Given the description of an element on the screen output the (x, y) to click on. 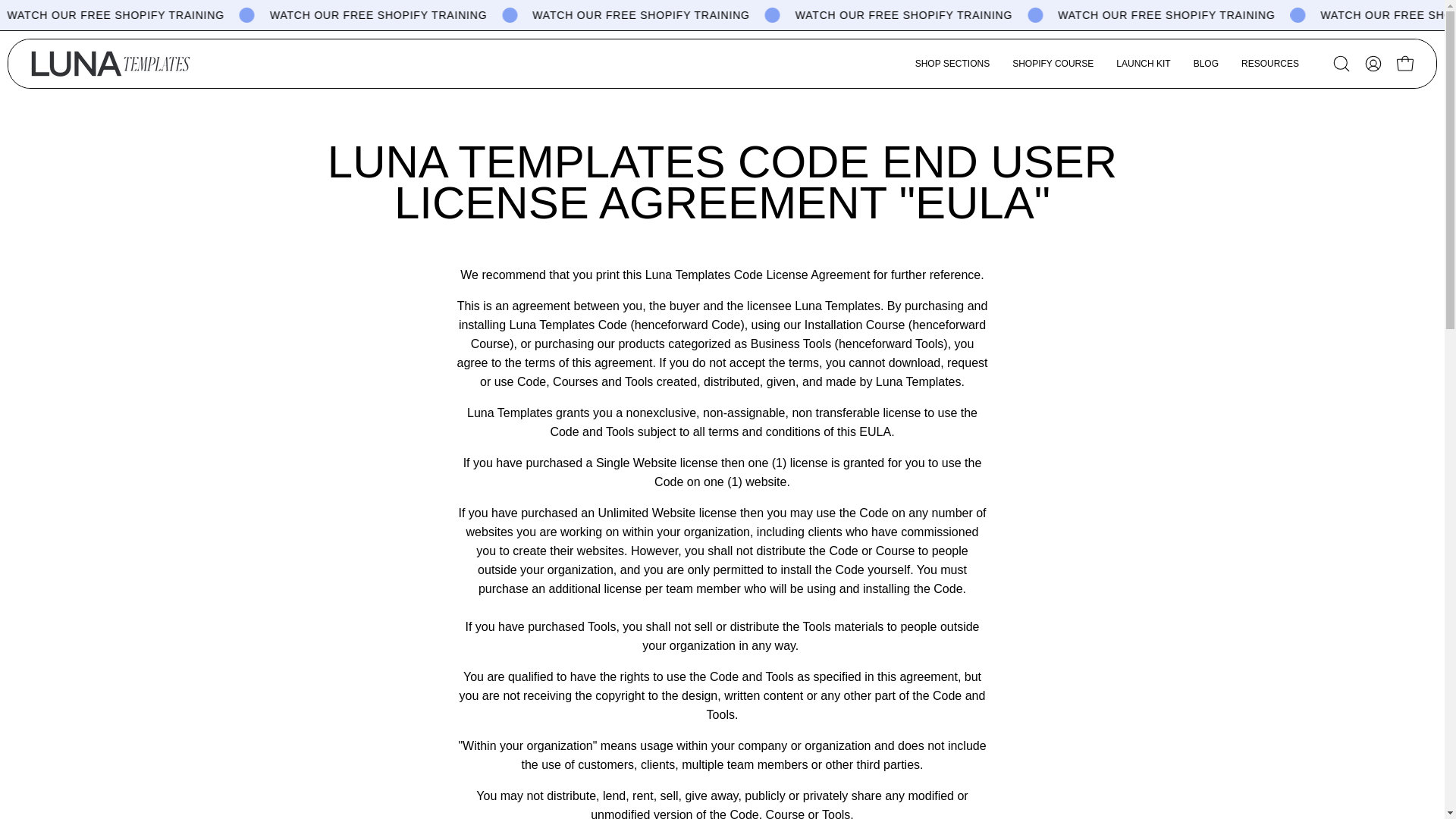
RESOURCES (1270, 63)
BLOG (1206, 63)
Open search bar (1340, 63)
SHOP SECTIONS (952, 63)
SHOPIFY COURSE (1053, 63)
LAUNCH KIT (1142, 63)
